Given the description of an element on the screen output the (x, y) to click on. 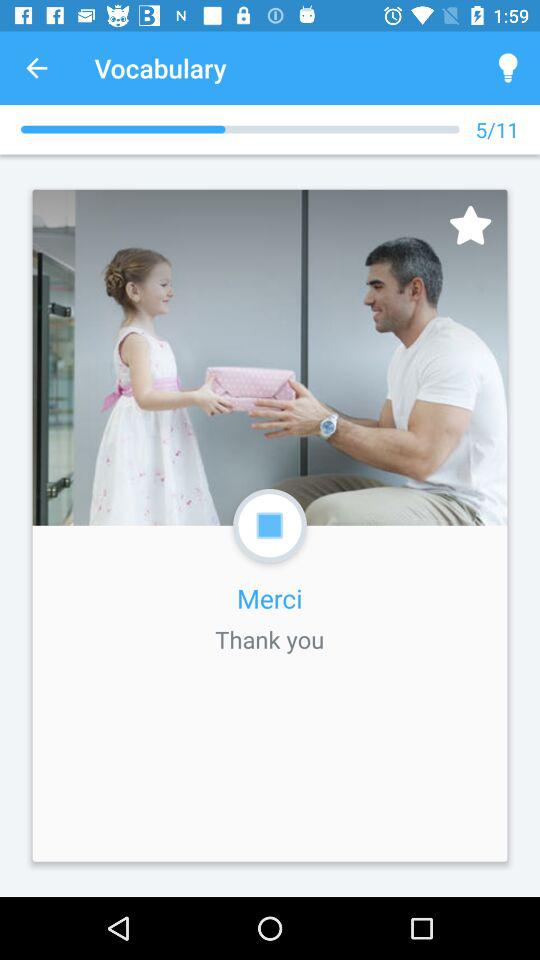
click the icon to the right of the vocabulary (508, 67)
